Given the description of an element on the screen output the (x, y) to click on. 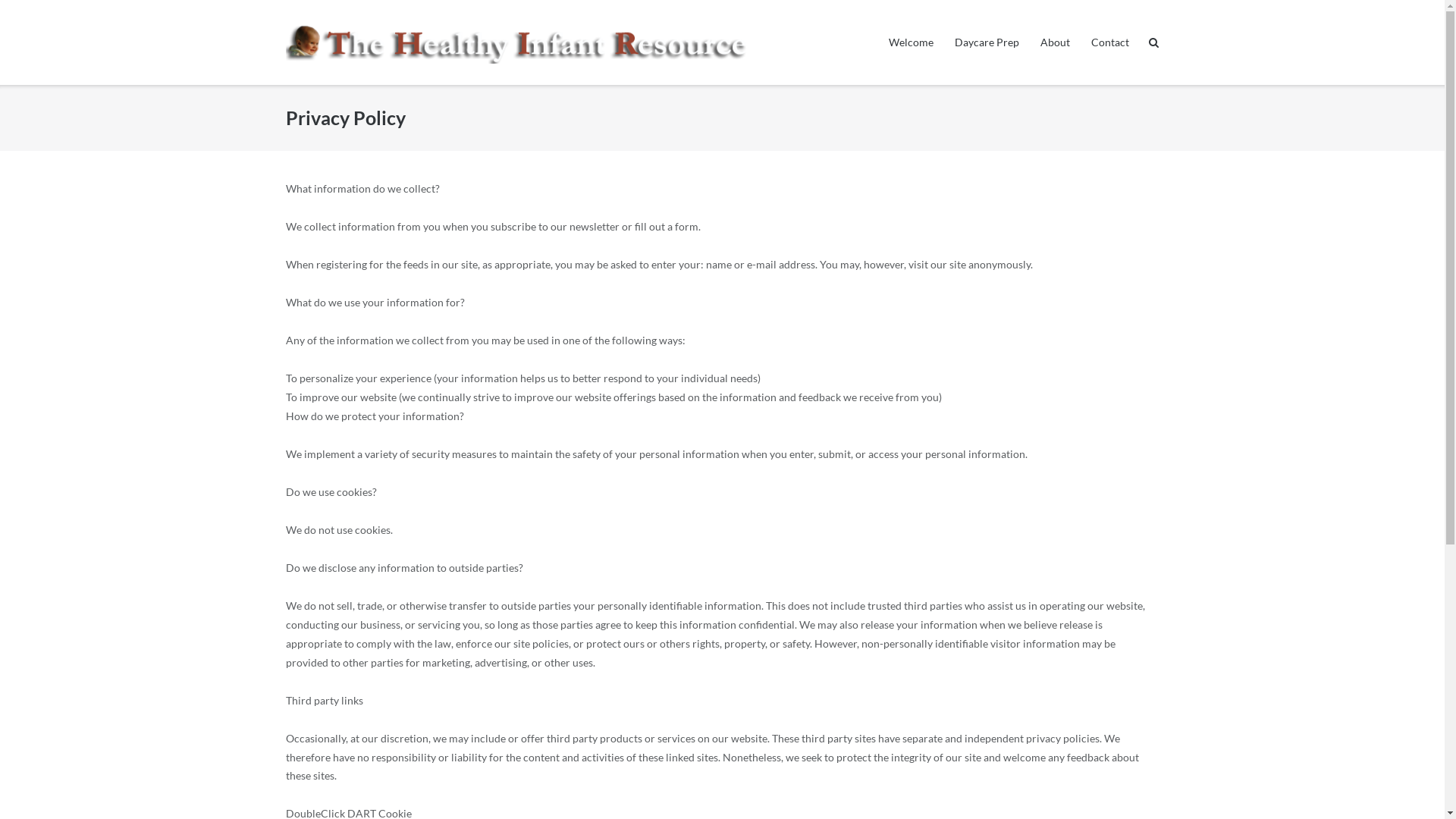
Contact Element type: text (1110, 42)
Skip to content Element type: text (0, 0)
About Element type: text (1055, 42)
Daycare Prep Element type: text (986, 42)
Welcome Element type: text (910, 42)
